Given the description of an element on the screen output the (x, y) to click on. 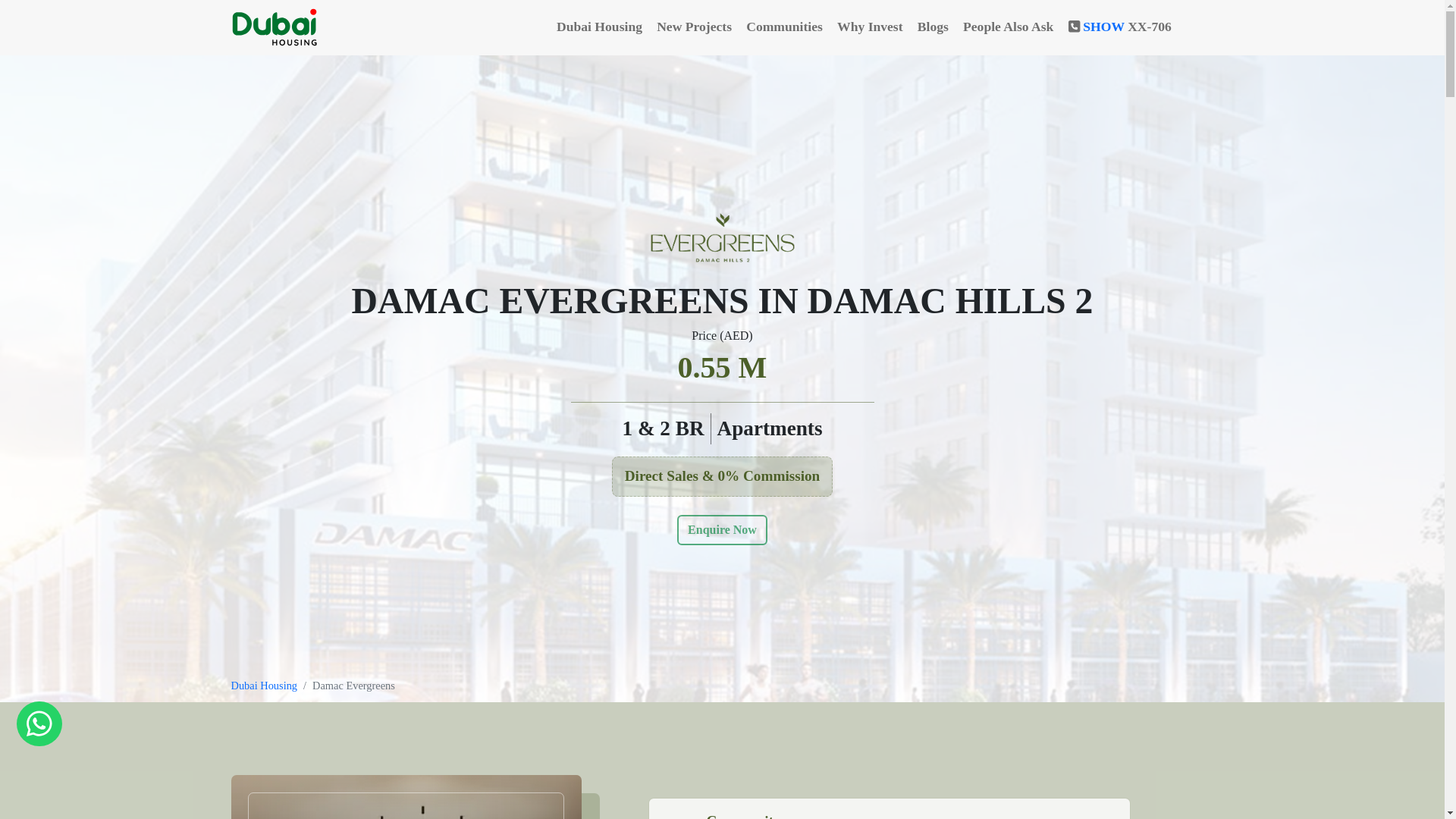
SHOW XX-706 (1136, 27)
Dubai Housing (600, 27)
People Also Ask (1008, 27)
Damac Evergreens Dubai Logo (721, 237)
Why Invest (871, 27)
Enquire Now (722, 530)
Dubai Housing (263, 685)
Communities (785, 27)
Dubai Housing (276, 26)
